Given the description of an element on the screen output the (x, y) to click on. 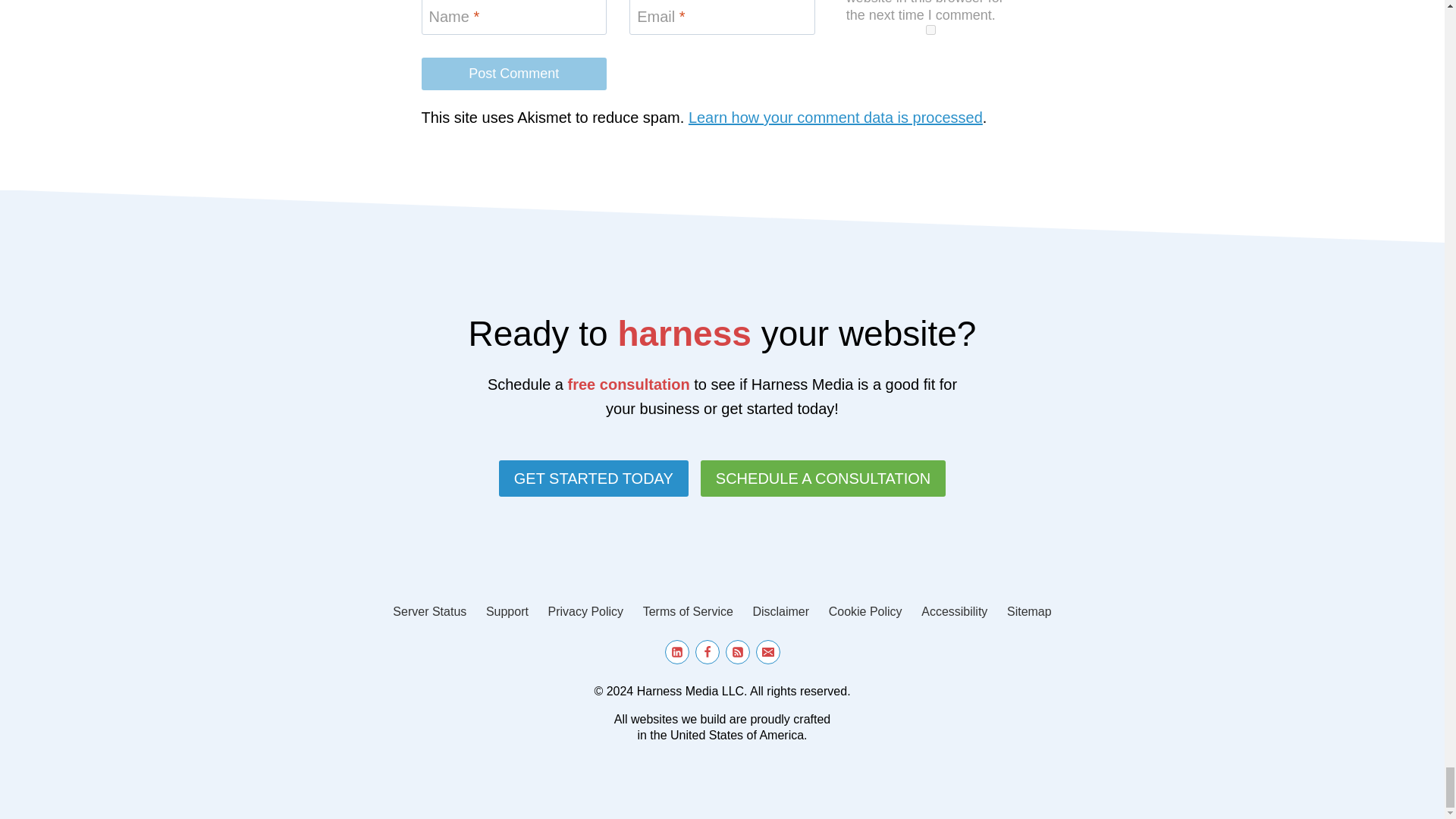
yes (930, 30)
Post Comment (514, 73)
